Given the description of an element on the screen output the (x, y) to click on. 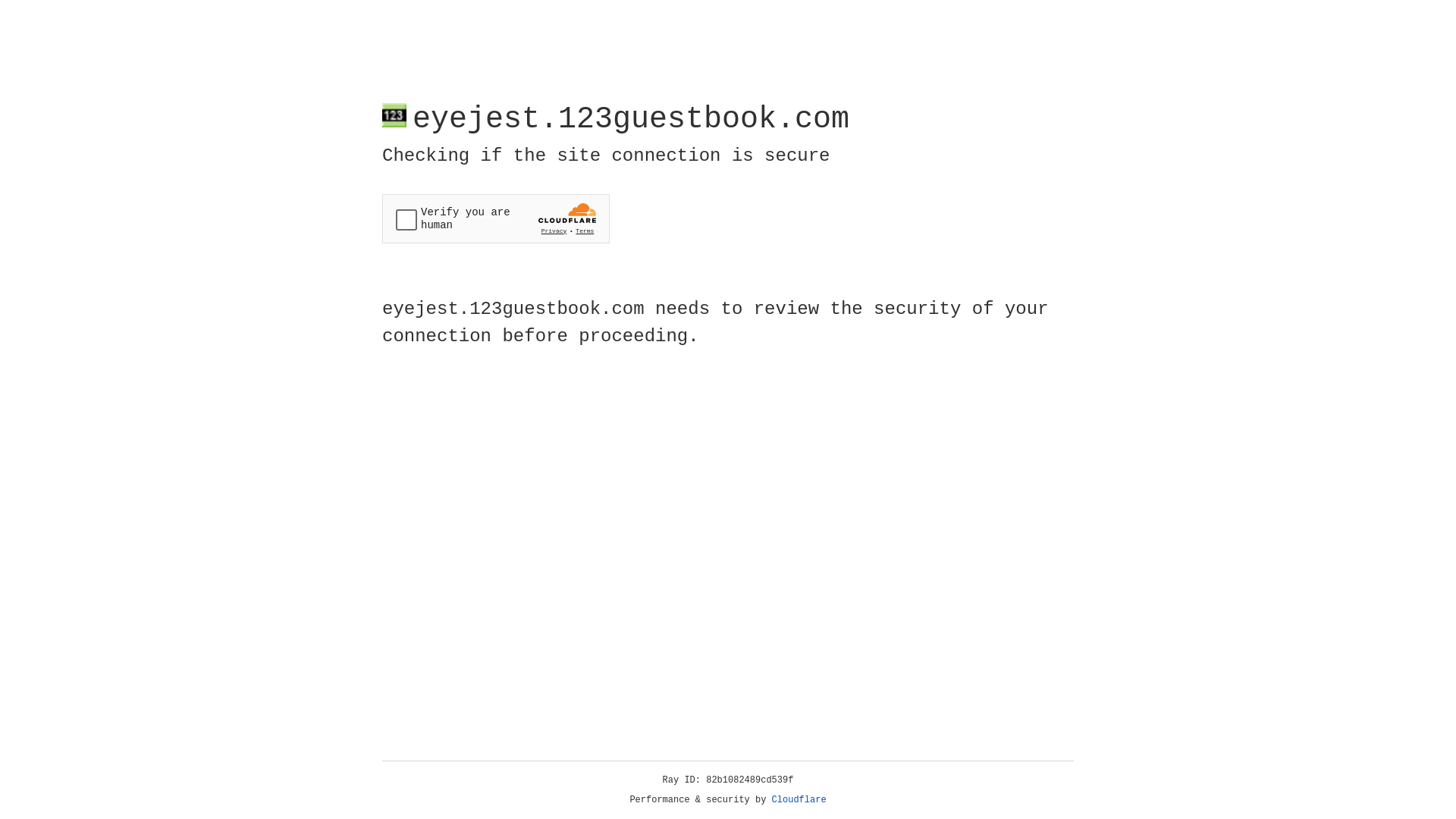
Widget containing a Cloudflare security challenge Element type: hover (495, 218)
Cloudflare Element type: text (798, 799)
